Given the description of an element on the screen output the (x, y) to click on. 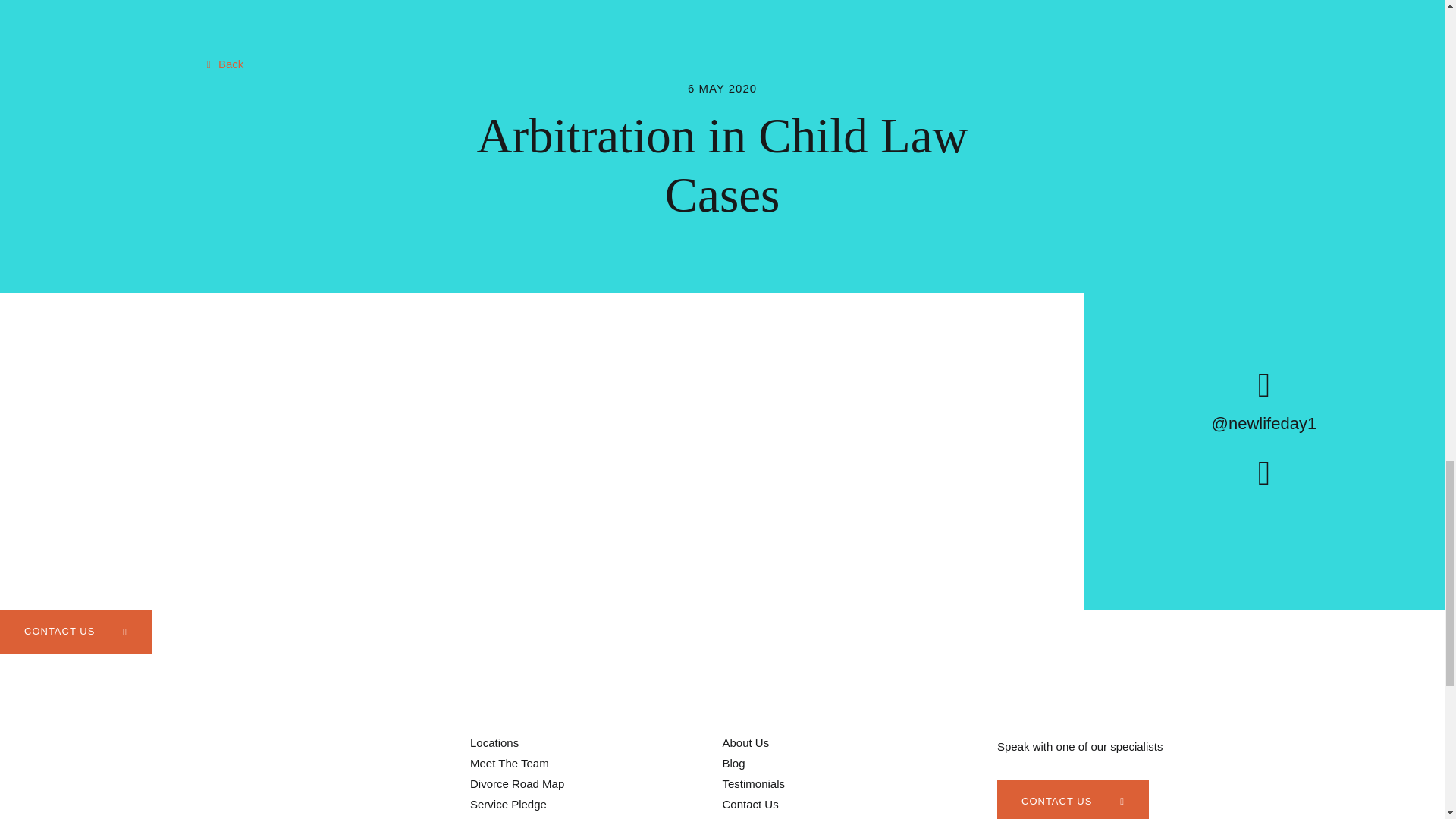
Maguire Family Law (255, 783)
